Given the description of an element on the screen output the (x, y) to click on. 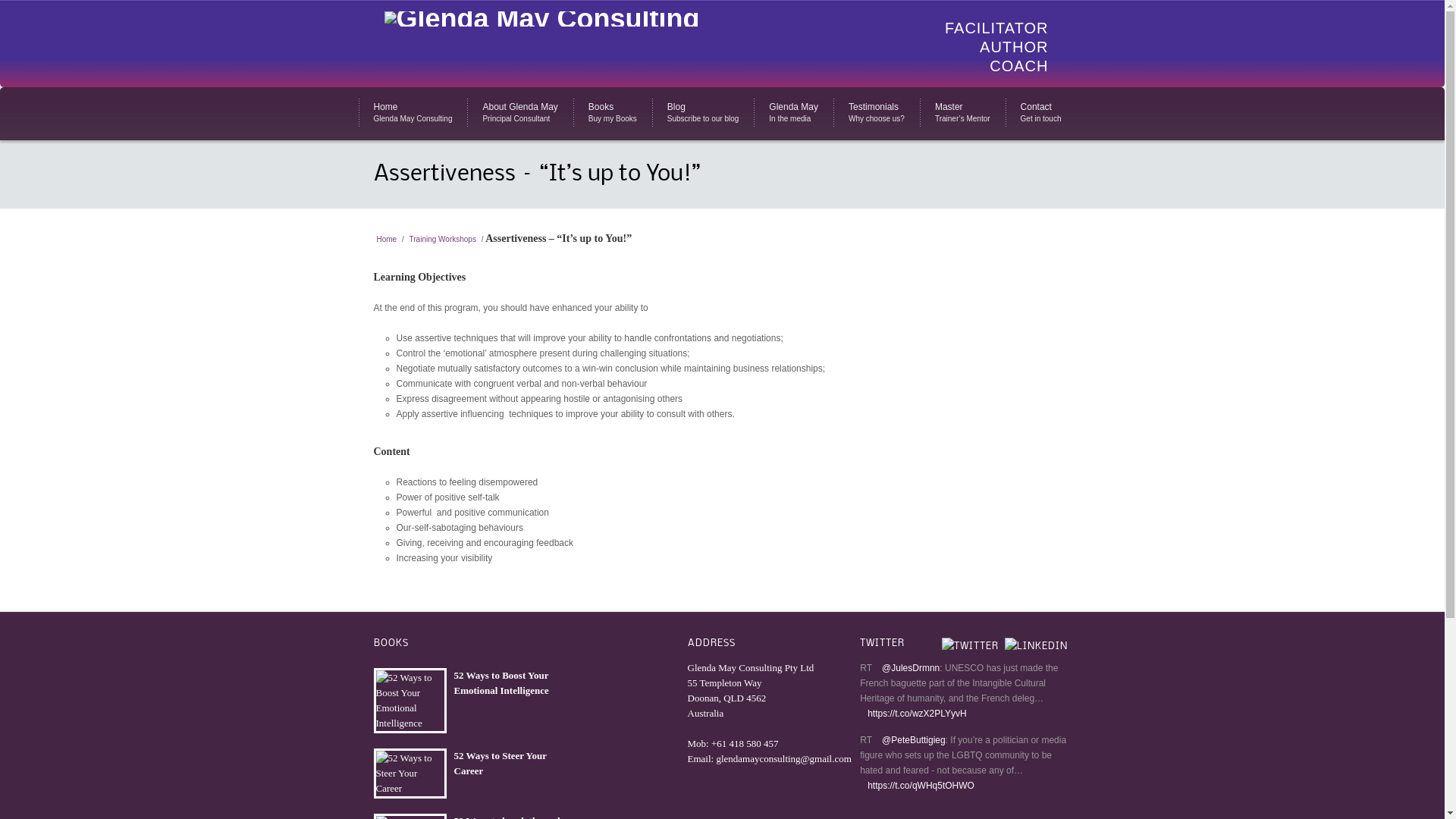
@PeteButtigieg Element type: text (909, 739)
Blog
Subscribe to our blog Element type: text (703, 113)
Email: glendamayconsulting@gmail.com Element type: text (768, 758)
Glenda May Consulting Element type: hover (541, 18)
@JulesDrmnn Element type: text (906, 667)
https://t.co/qWHq5tOHWO Element type: text (916, 785)
https://t.co/wzX2PLYyvH Element type: text (912, 713)
Training Workshops Element type: text (442, 239)
TWITTER Element type: text (881, 643)
Home Element type: text (386, 239)
Contact
Get in touch Element type: text (1040, 113)
About Glenda May
Principal Consultant Element type: text (519, 113)
Books
Buy my Books Element type: text (612, 113)
Home
Glenda May Consulting Element type: text (412, 113)
Testimonials
Why choose us? Element type: text (876, 113)
Glenda May
In the media Element type: text (793, 113)
